Given the description of an element on the screen output the (x, y) to click on. 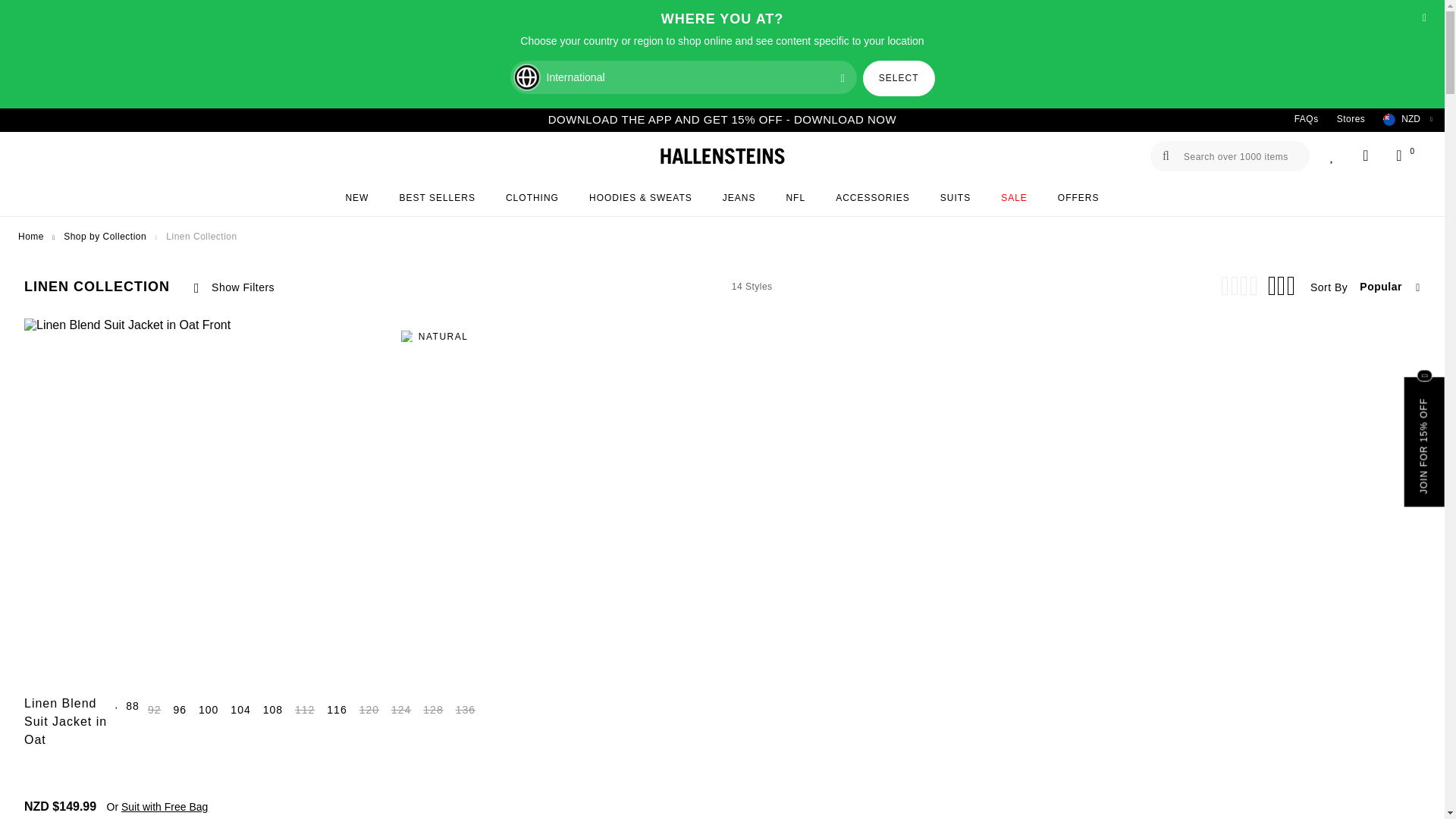
FAQs (1306, 119)
SELECT (898, 78)
Stores (1350, 119)
NEW (357, 198)
CLOTHING (531, 198)
NZD (1403, 119)
DOWNLOAD NOW (844, 119)
BEST SELLERS (437, 198)
Wishlist (1332, 155)
0 (1397, 155)
International (682, 77)
